Given the description of an element on the screen output the (x, y) to click on. 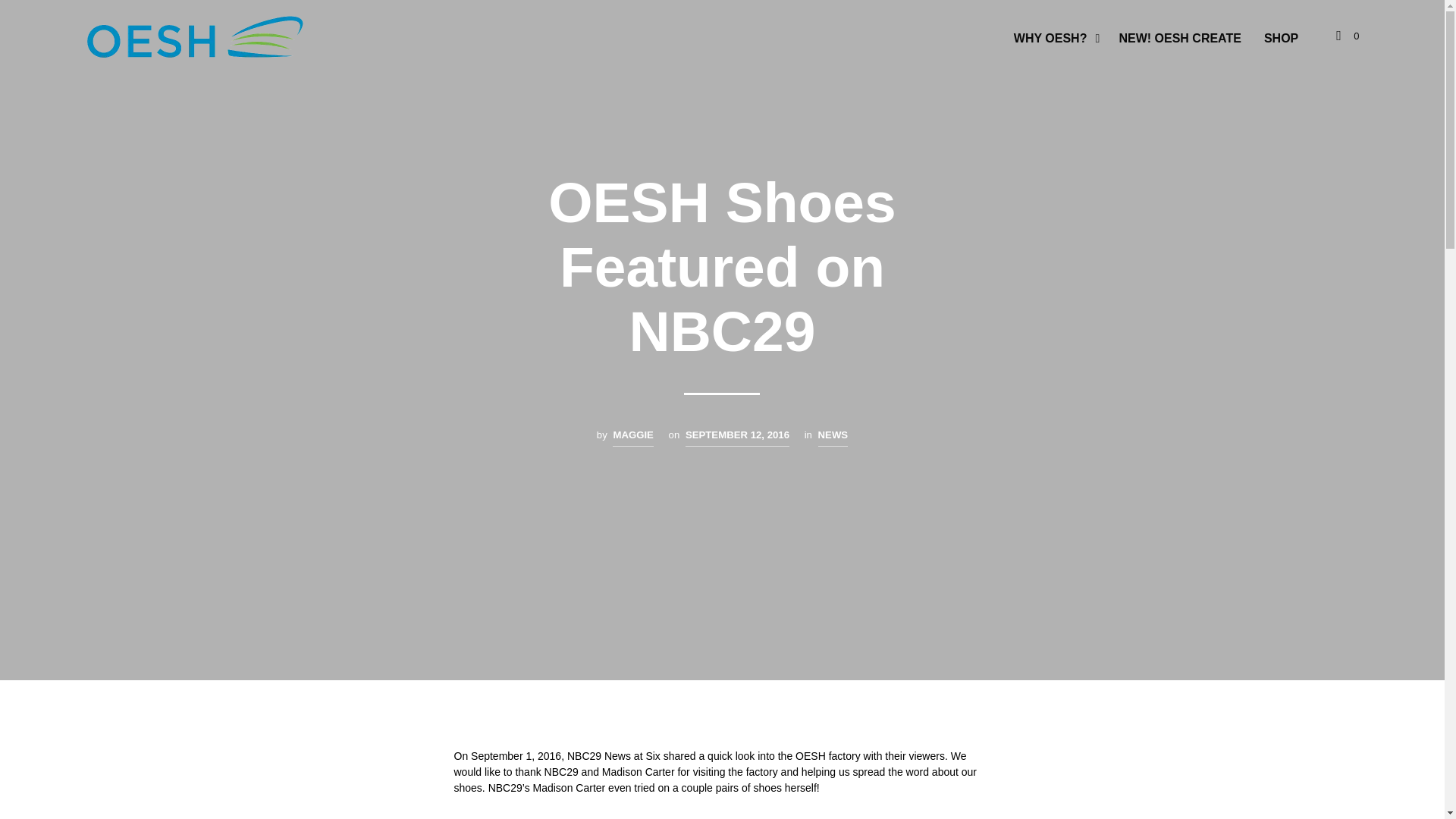
Permalink to OESH Shoes Featured on NBC29 (737, 436)
SHOP (1280, 38)
WHY OESH? (1051, 38)
NEW! OESH CREATE (1179, 38)
MAGGIE (632, 436)
0 (1347, 36)
NEWS (833, 436)
SEPTEMBER 12, 2016 (737, 436)
View all posts by Maggie (632, 436)
